Given the description of an element on the screen output the (x, y) to click on. 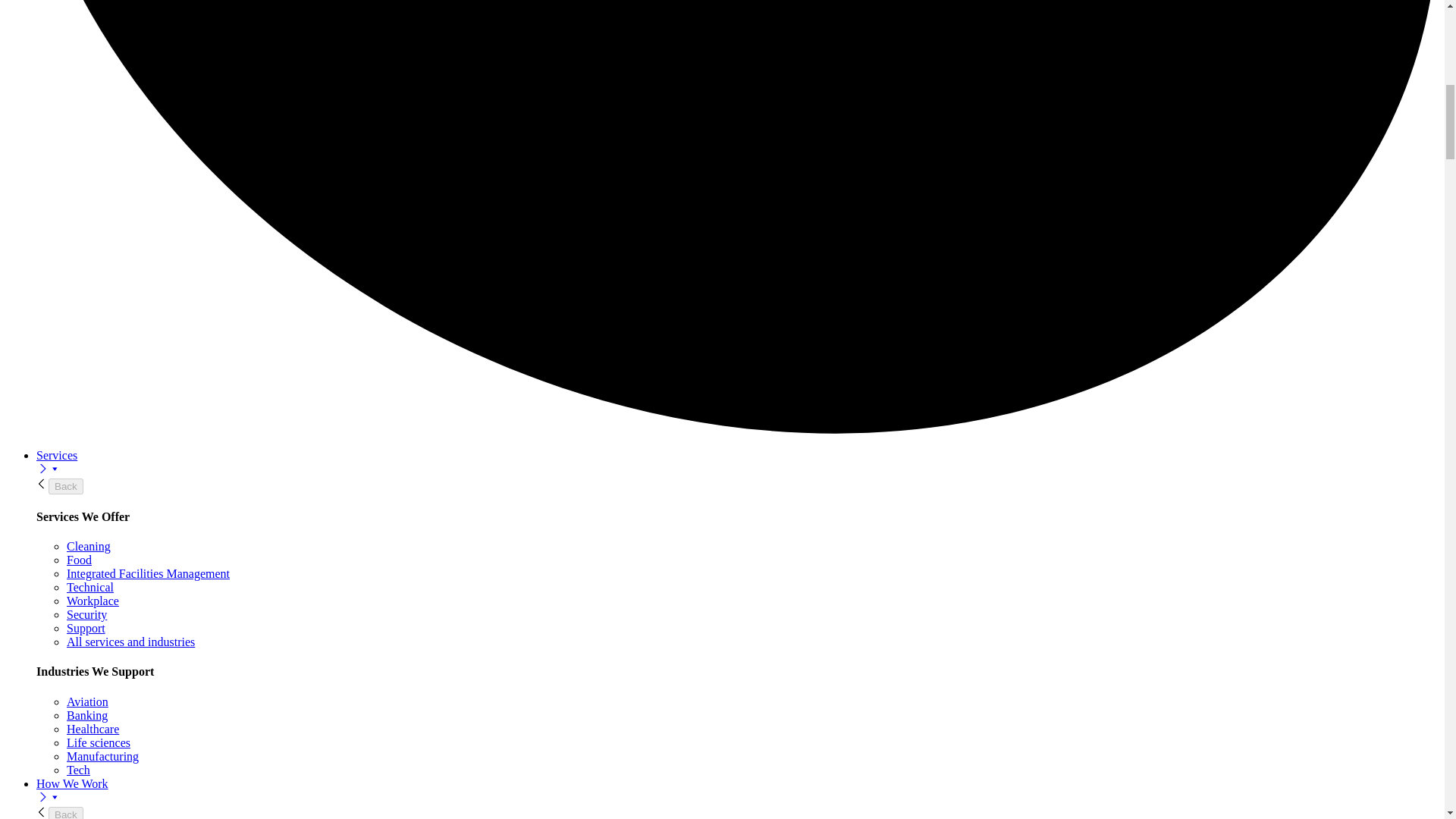
Aviation (86, 701)
Banking (86, 715)
Security (86, 614)
Back (65, 486)
Workplace (92, 600)
Healthcare (92, 728)
Back (65, 812)
Support (85, 627)
Security (86, 614)
Life sciences (98, 742)
Workplace (92, 600)
Support (85, 627)
Cleaning (88, 545)
Banking (86, 715)
Manufacturing (102, 756)
